Given the description of an element on the screen output the (x, y) to click on. 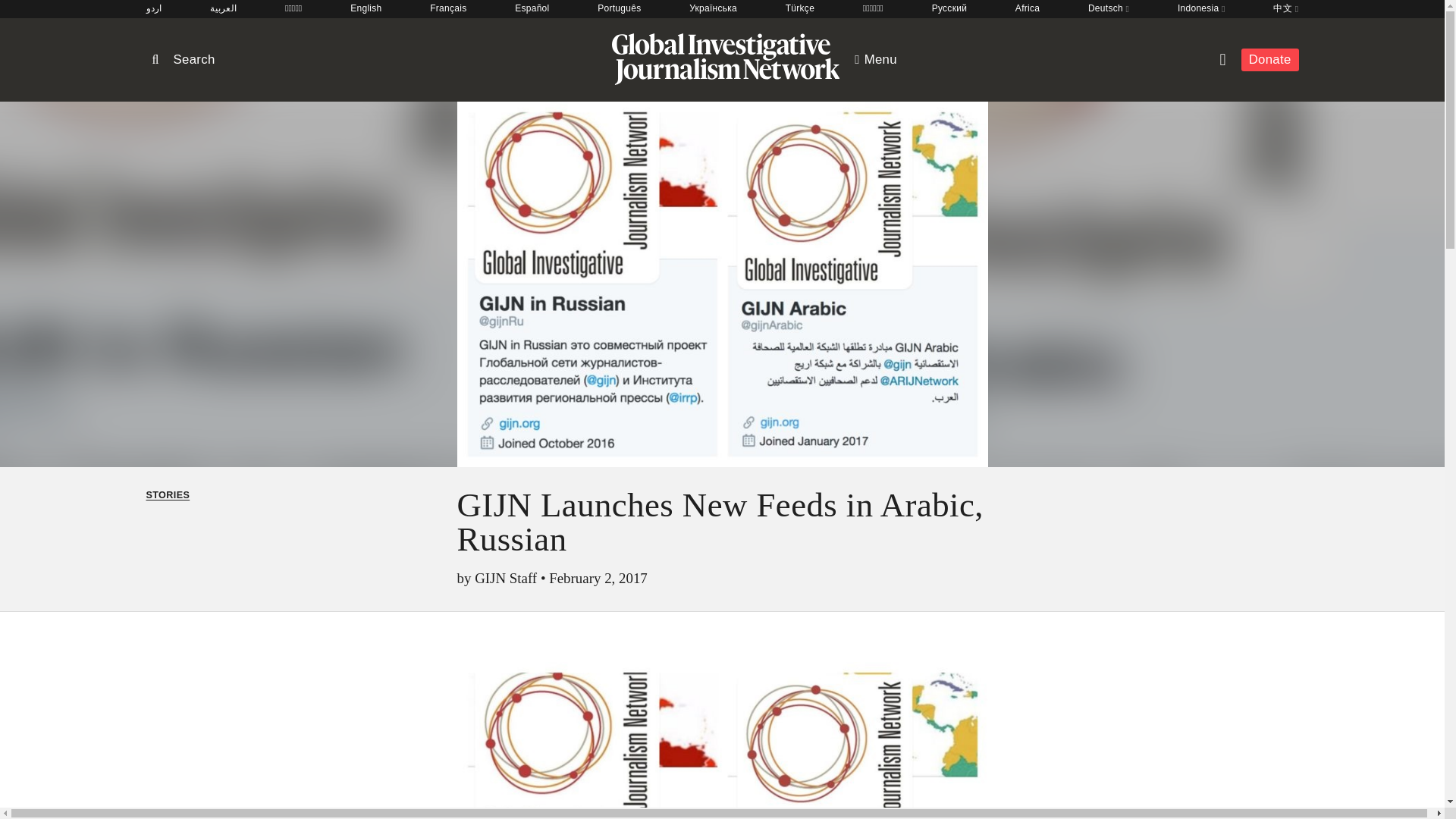
Menu (875, 58)
Donate (1269, 59)
Africa (1026, 9)
Indonesia (1201, 9)
English (365, 9)
Deutsch (1108, 9)
